Given the description of an element on the screen output the (x, y) to click on. 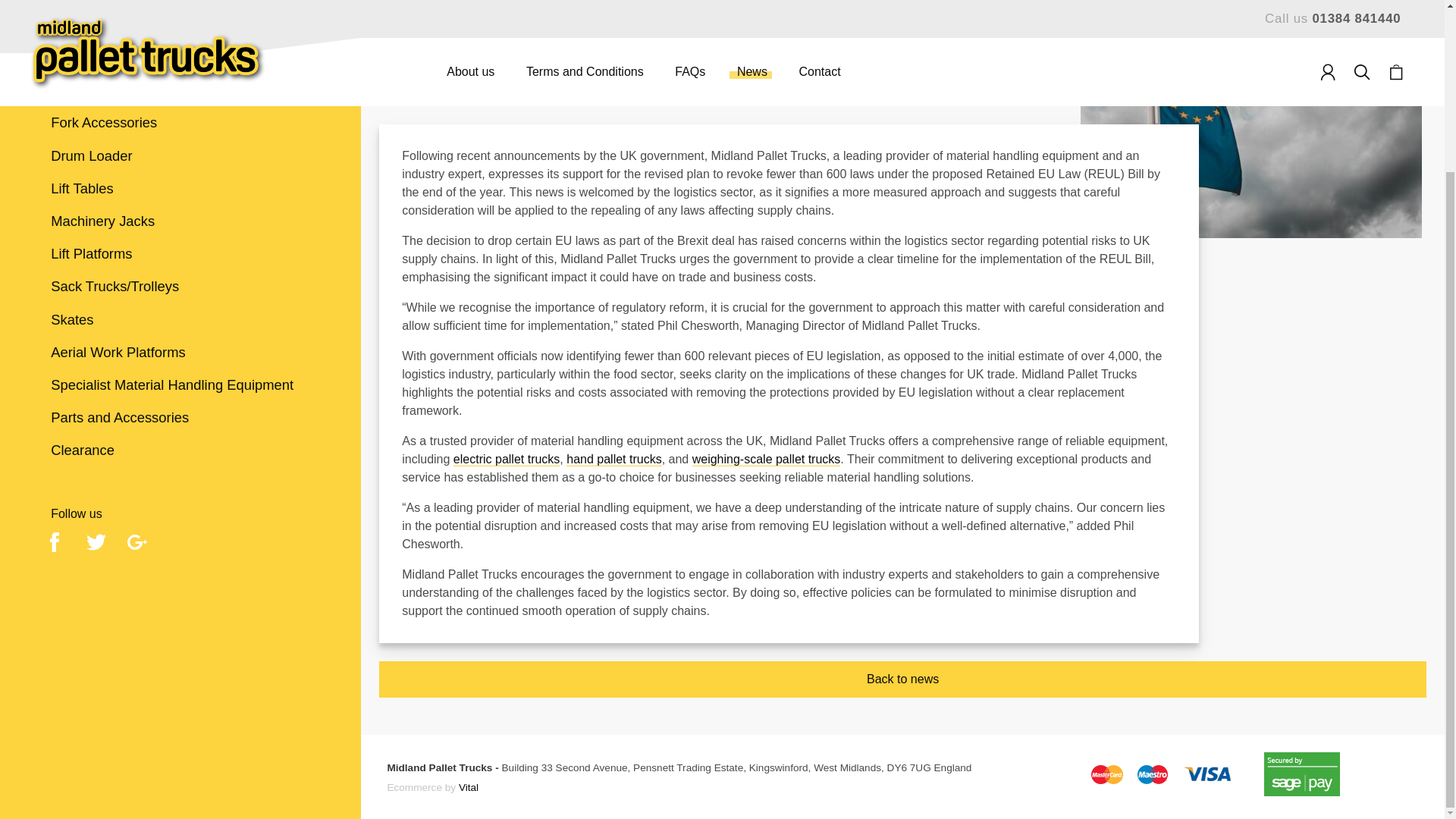
Skates (180, 319)
Fork Accessories (180, 122)
Drum Loader (180, 155)
High Lift Pallet Trucks (180, 57)
Specialist Material Handling Equipment (180, 384)
Weighing Scale Trucks (180, 24)
Parts and Accessories (180, 417)
Lift Tables (180, 188)
Clearance (180, 450)
Machinery Jacks (180, 221)
Manual Stacker Trucks (180, 90)
Electric Trucks (180, 2)
Lift Platforms (180, 253)
Aerial Work Platforms (180, 352)
